Given the description of an element on the screen output the (x, y) to click on. 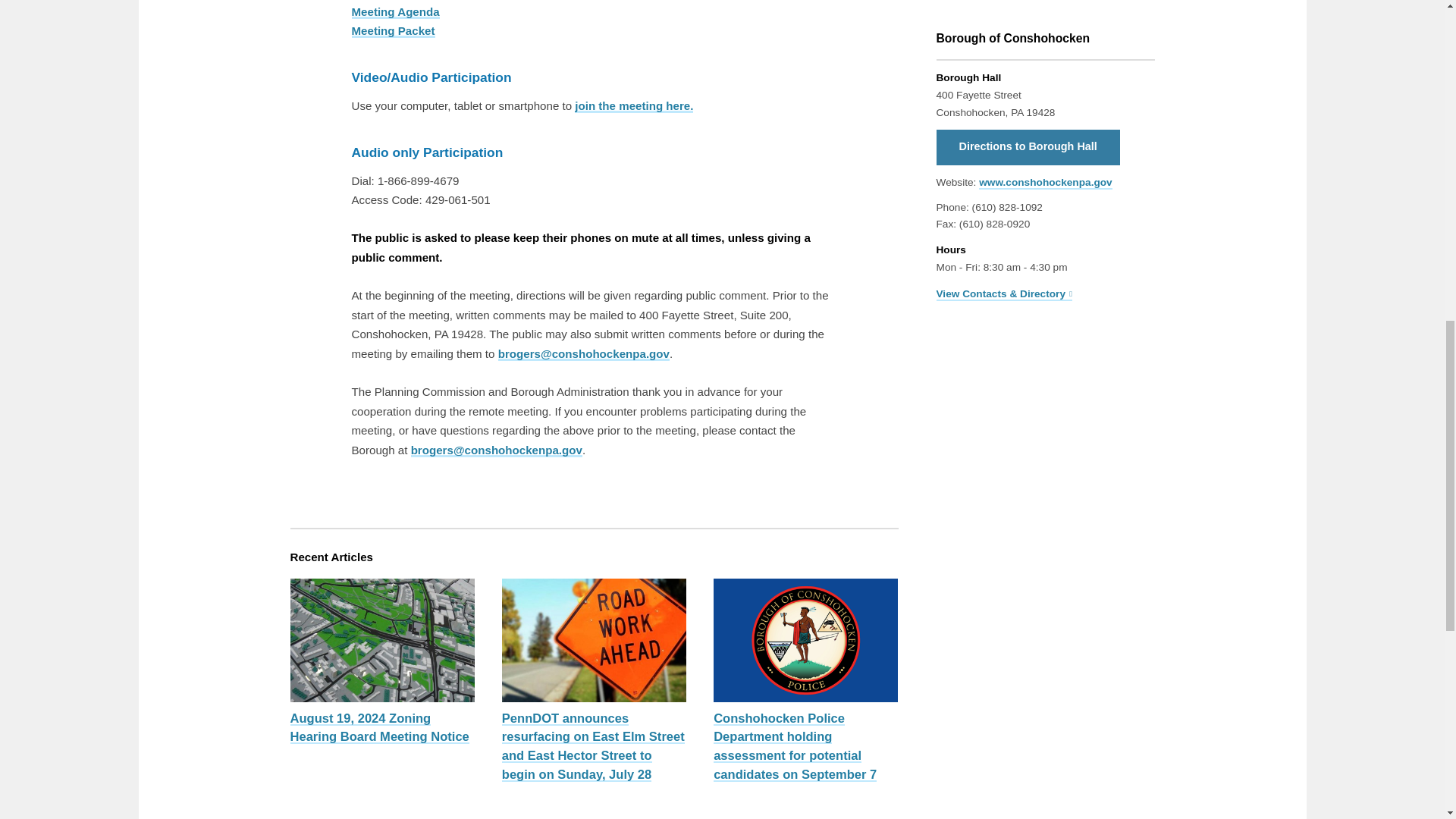
June 10, 2021 (395, 11)
June 10, 2021 (393, 30)
